Given the description of an element on the screen output the (x, y) to click on. 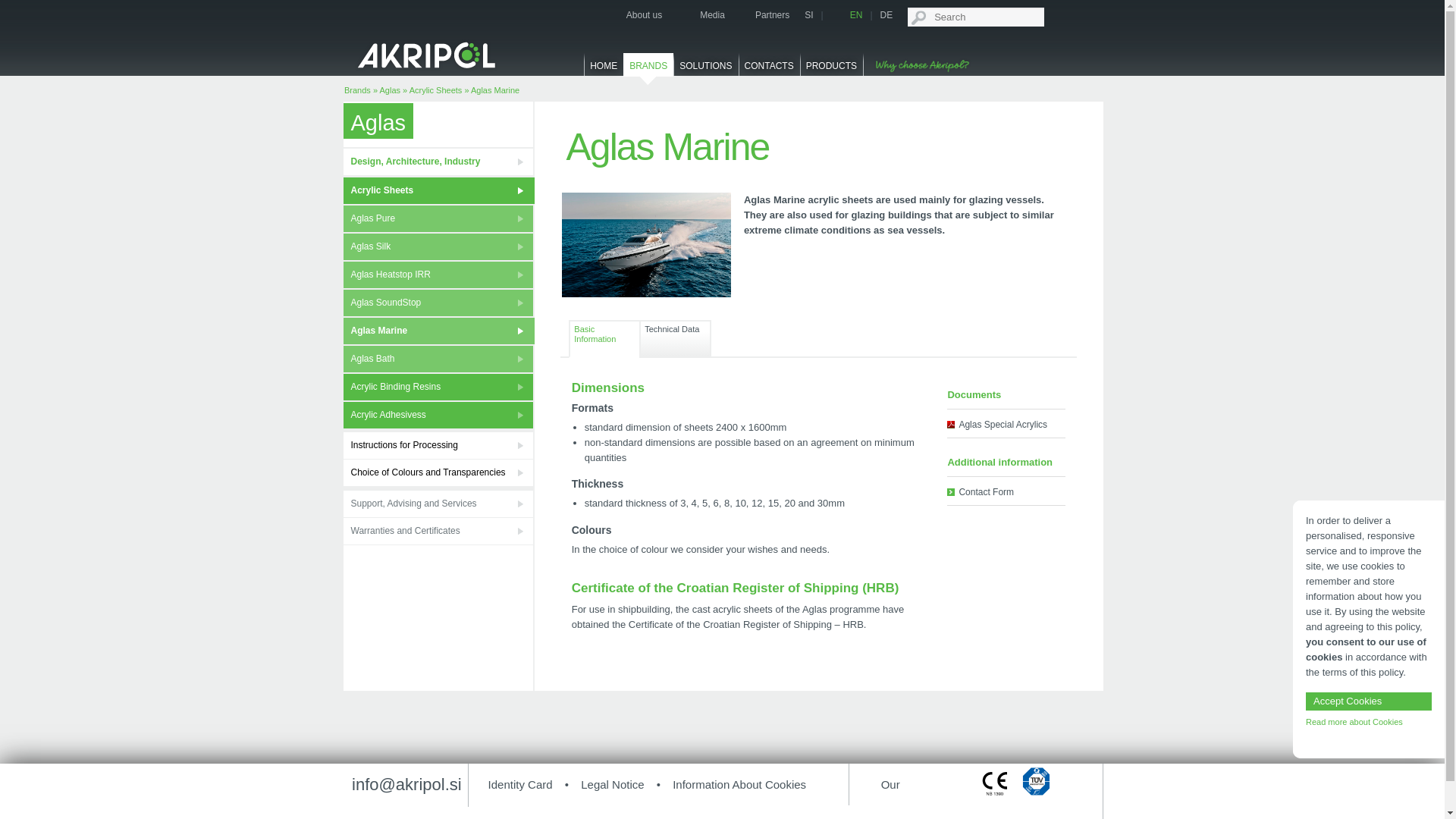
Brands (647, 69)
Media (701, 14)
Aglas (389, 90)
Products (831, 69)
About us (634, 14)
Brands (357, 90)
Solutions (705, 69)
Akripol (427, 53)
Acrylic Sheets (436, 90)
BRANDS (647, 69)
